Given the description of an element on the screen output the (x, y) to click on. 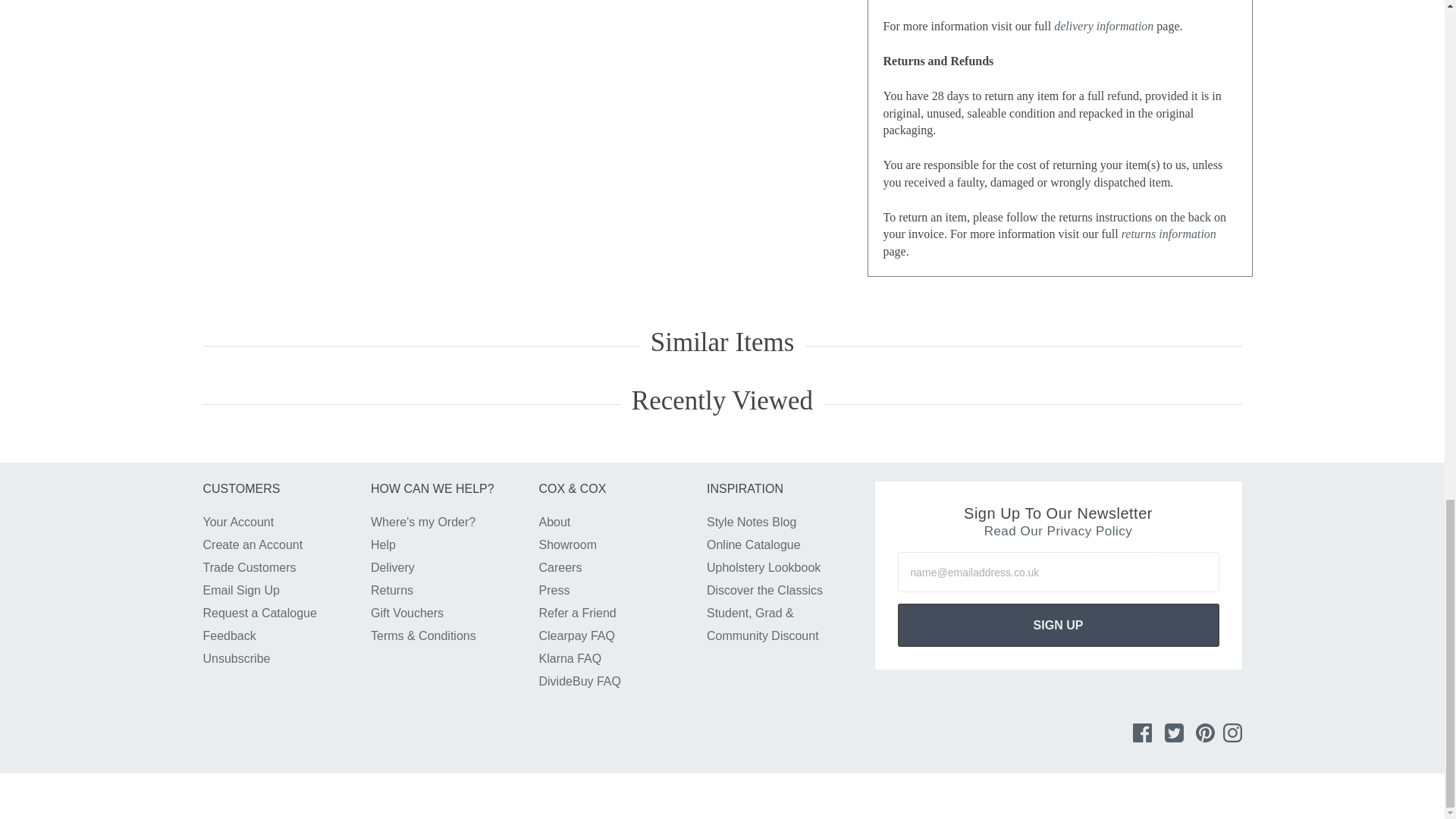
Follow us on Instagram (1232, 732)
Follow us on Twitter (1173, 732)
Follow us on Pinterest (1204, 732)
Subscribe (1059, 625)
Like us on Facebook (1141, 732)
